Given the description of an element on the screen output the (x, y) to click on. 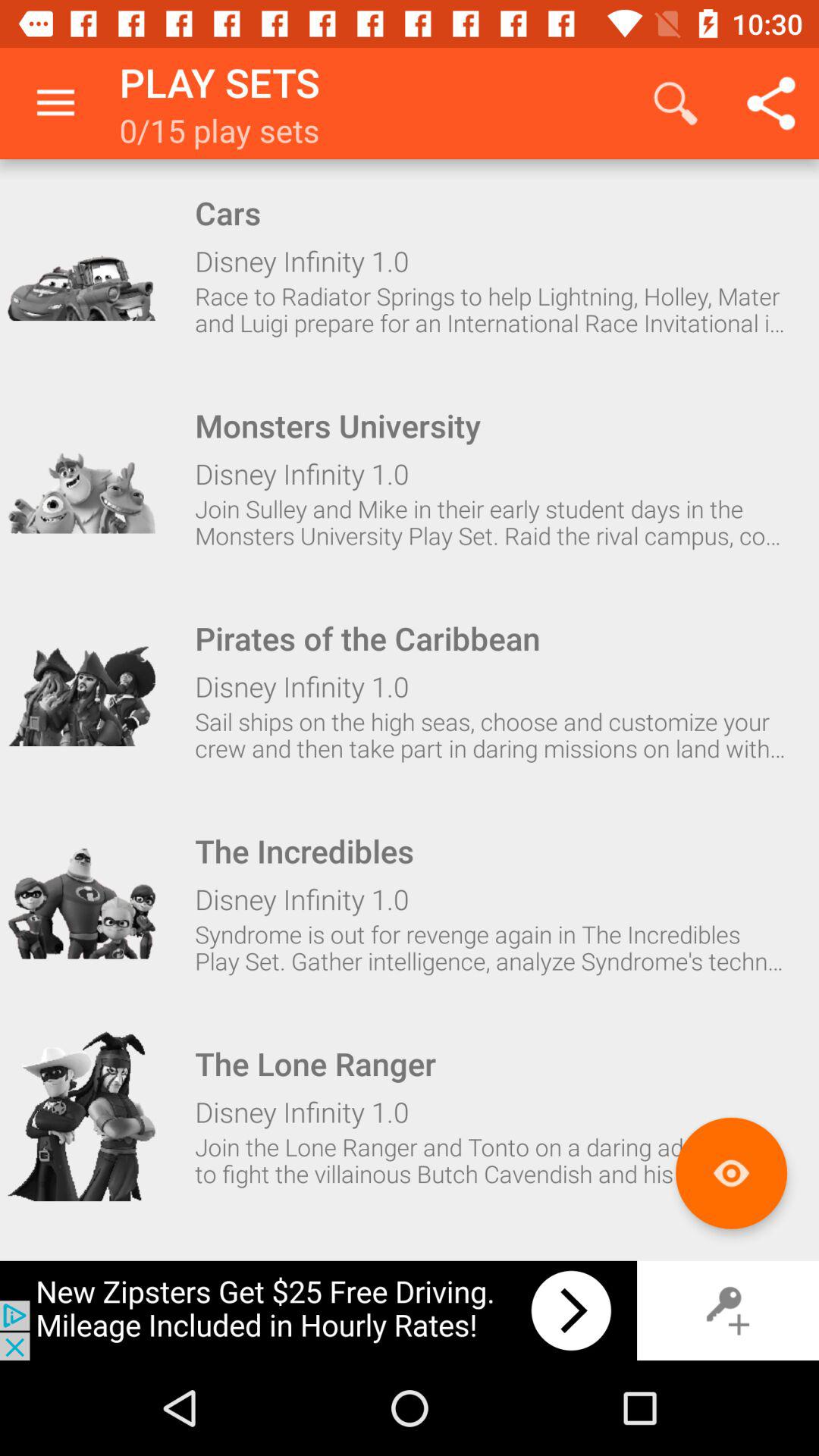
view articles (731, 1173)
